Given the description of an element on the screen output the (x, y) to click on. 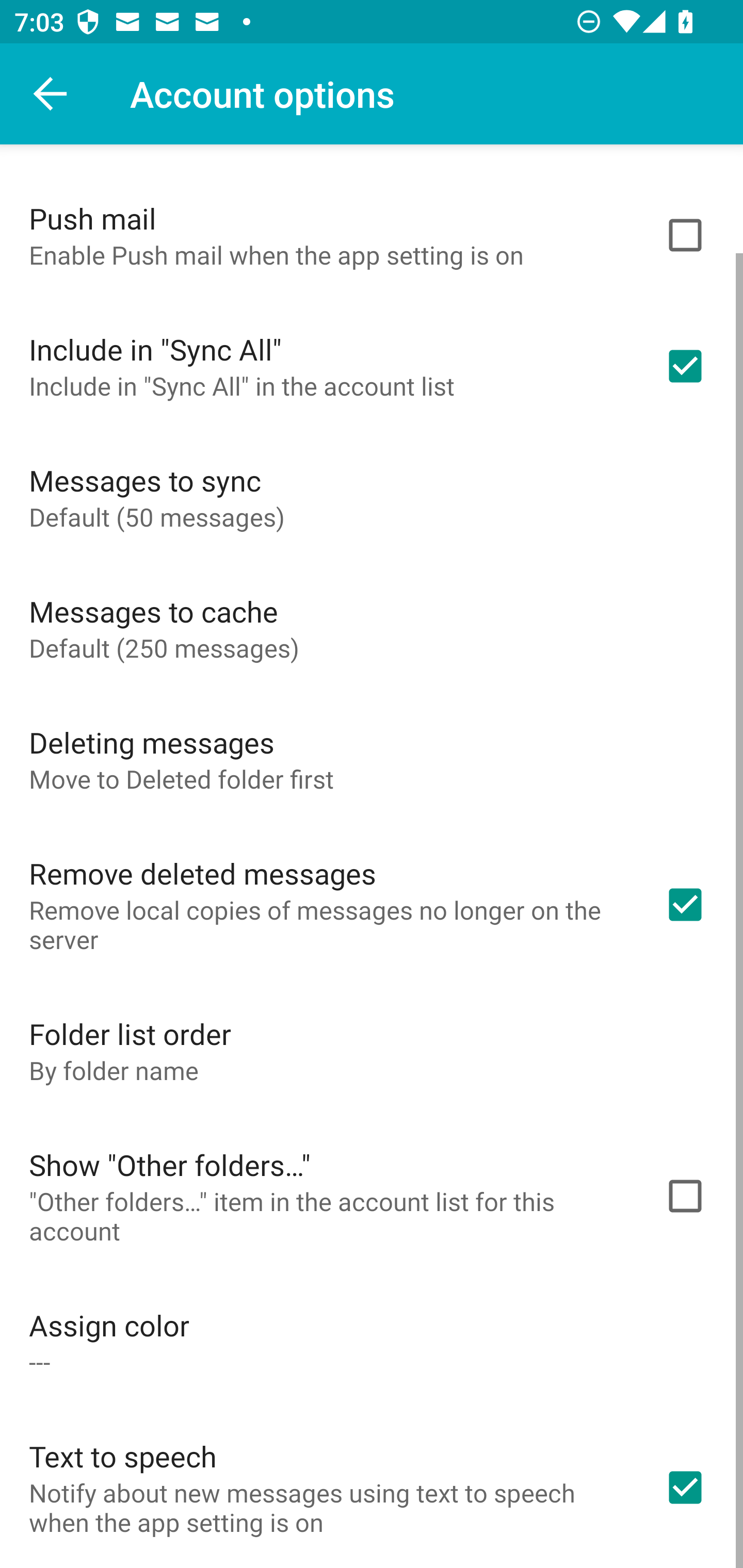
Navigate up (50, 93)
Messages to sync Default (50 messages) (371, 496)
Messages to cache Default (250 messages) (371, 627)
Deleting messages Move to Deleted folder first (371, 758)
Folder list order By folder name (371, 1050)
Assign color --- (371, 1342)
